Given the description of an element on the screen output the (x, y) to click on. 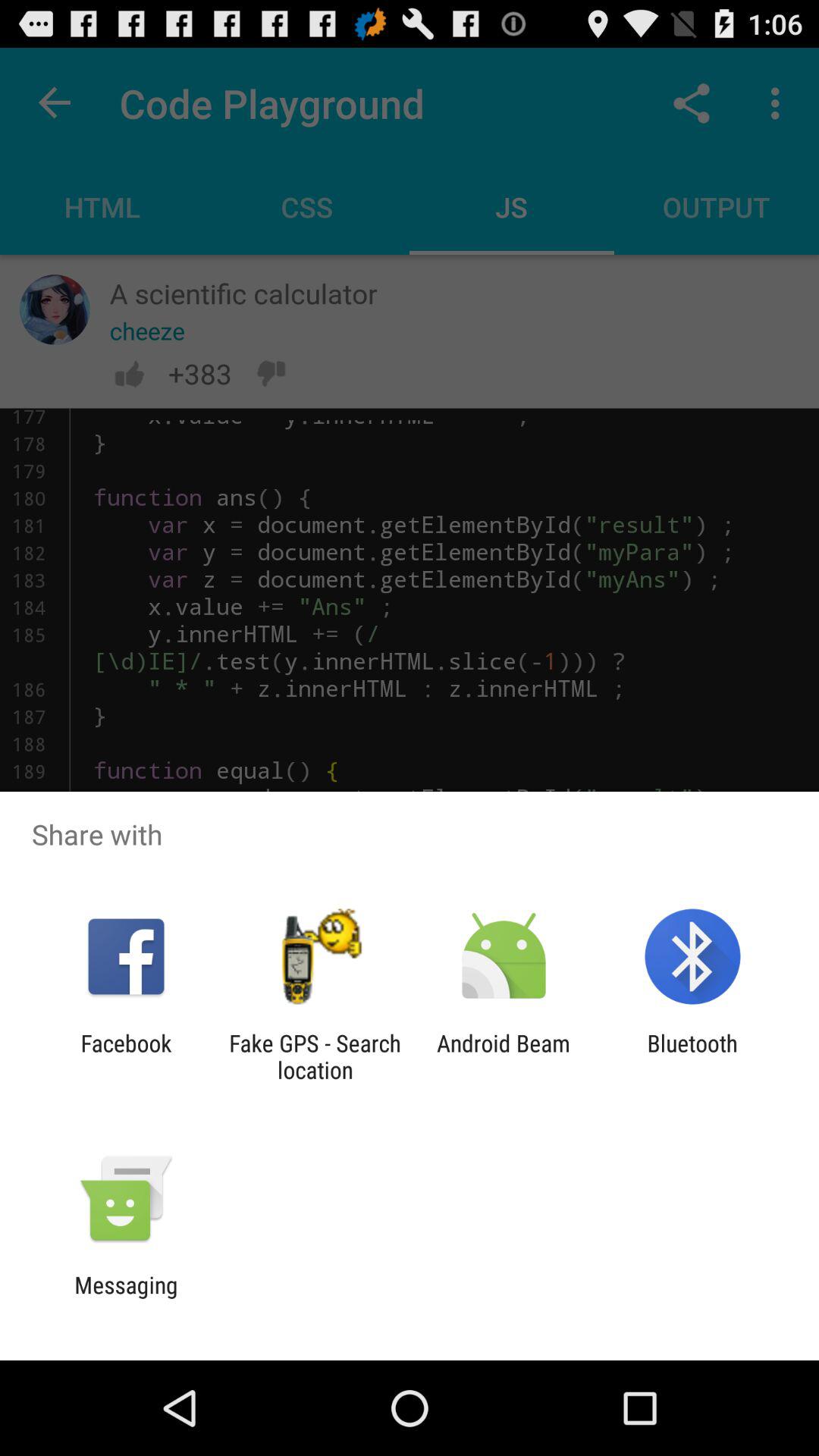
choose the item to the right of the android beam (692, 1056)
